Given the description of an element on the screen output the (x, y) to click on. 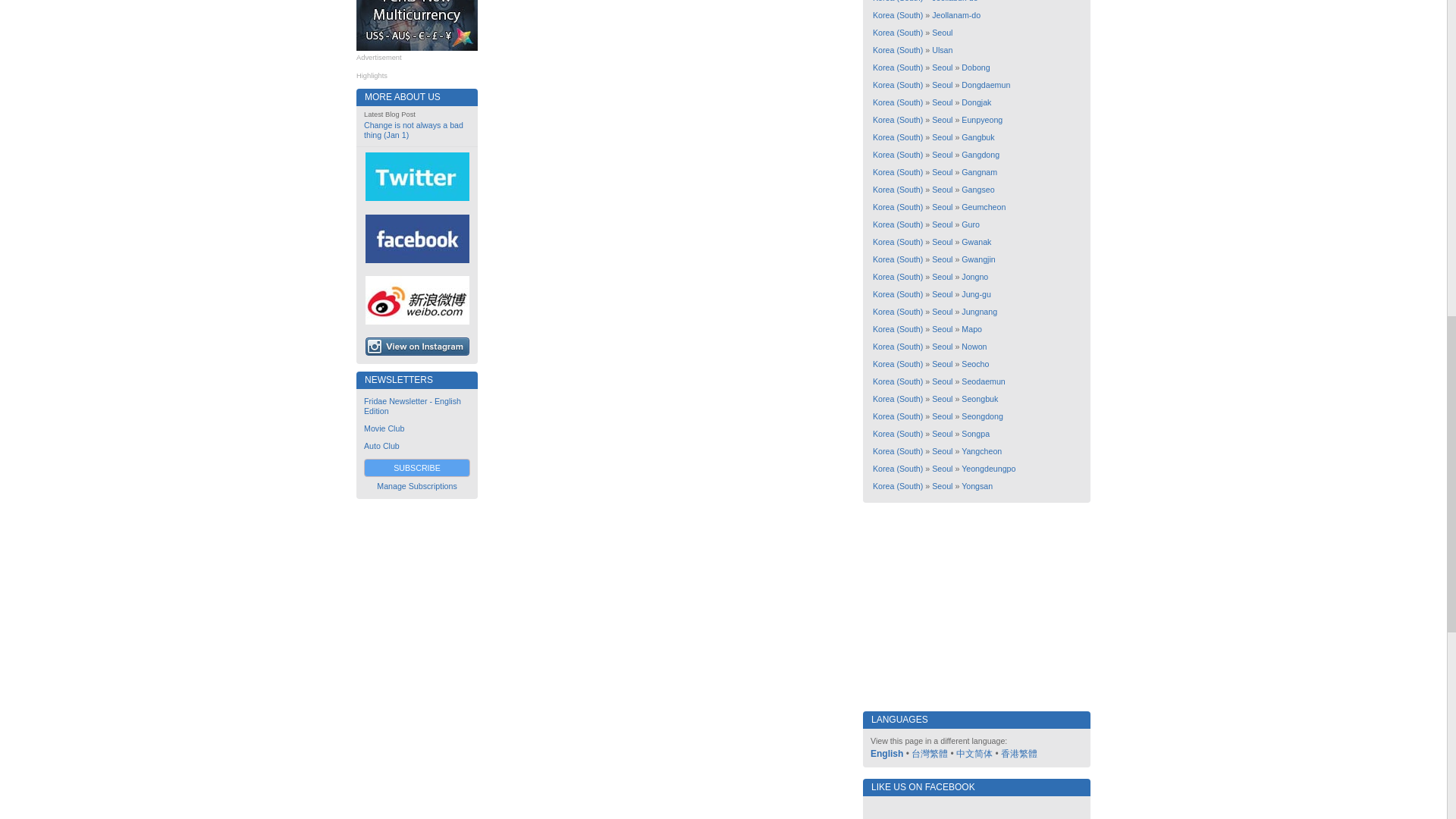
Movie Club (384, 428)
Fridae Newsletter - English Edition (412, 405)
Auto Club (381, 445)
